Given the description of an element on the screen output the (x, y) to click on. 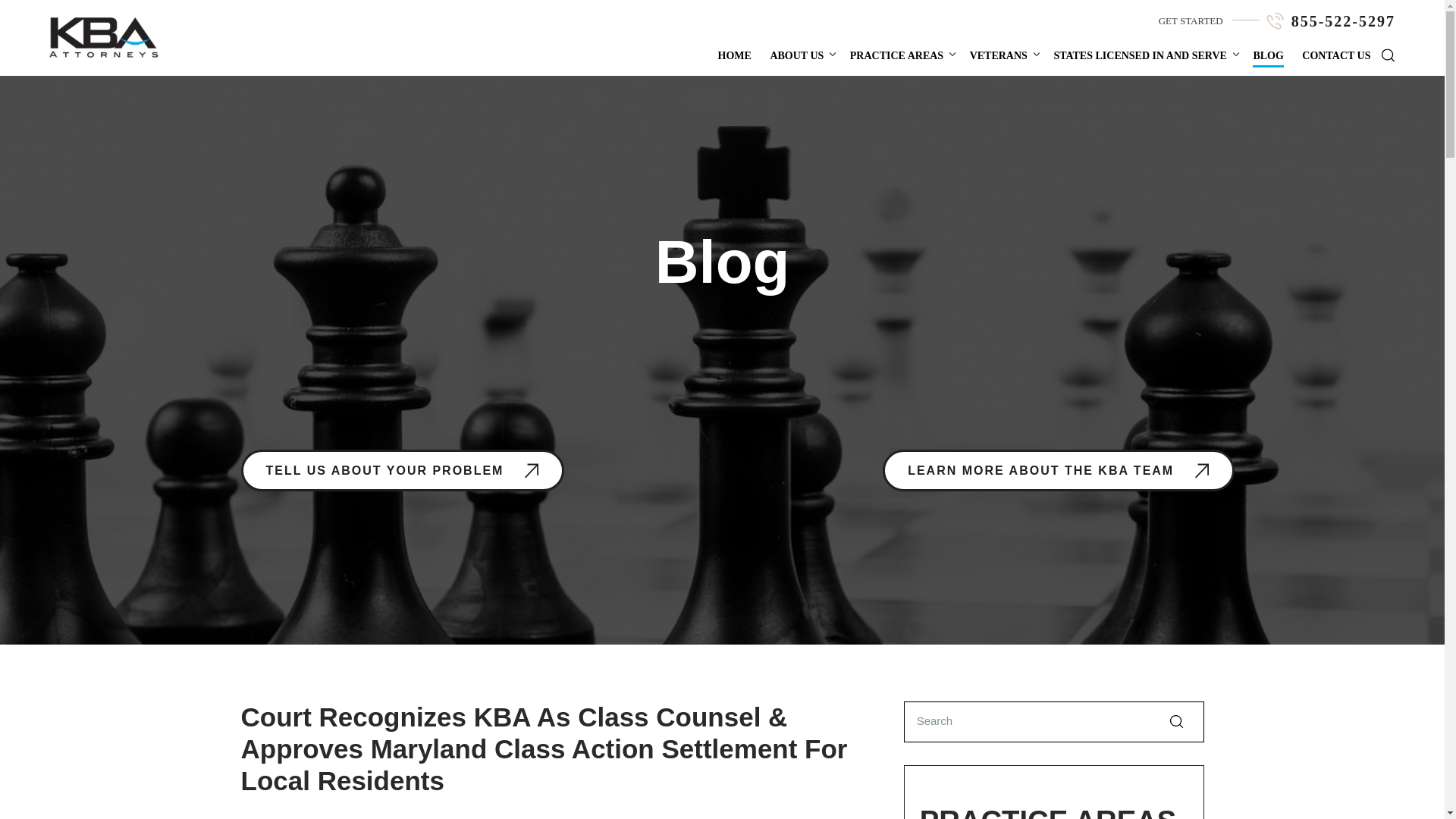
ABOUT US (797, 55)
855-522-5297 (1342, 21)
PRACTICE AREAS (896, 55)
HOME (734, 55)
